Given the description of an element on the screen output the (x, y) to click on. 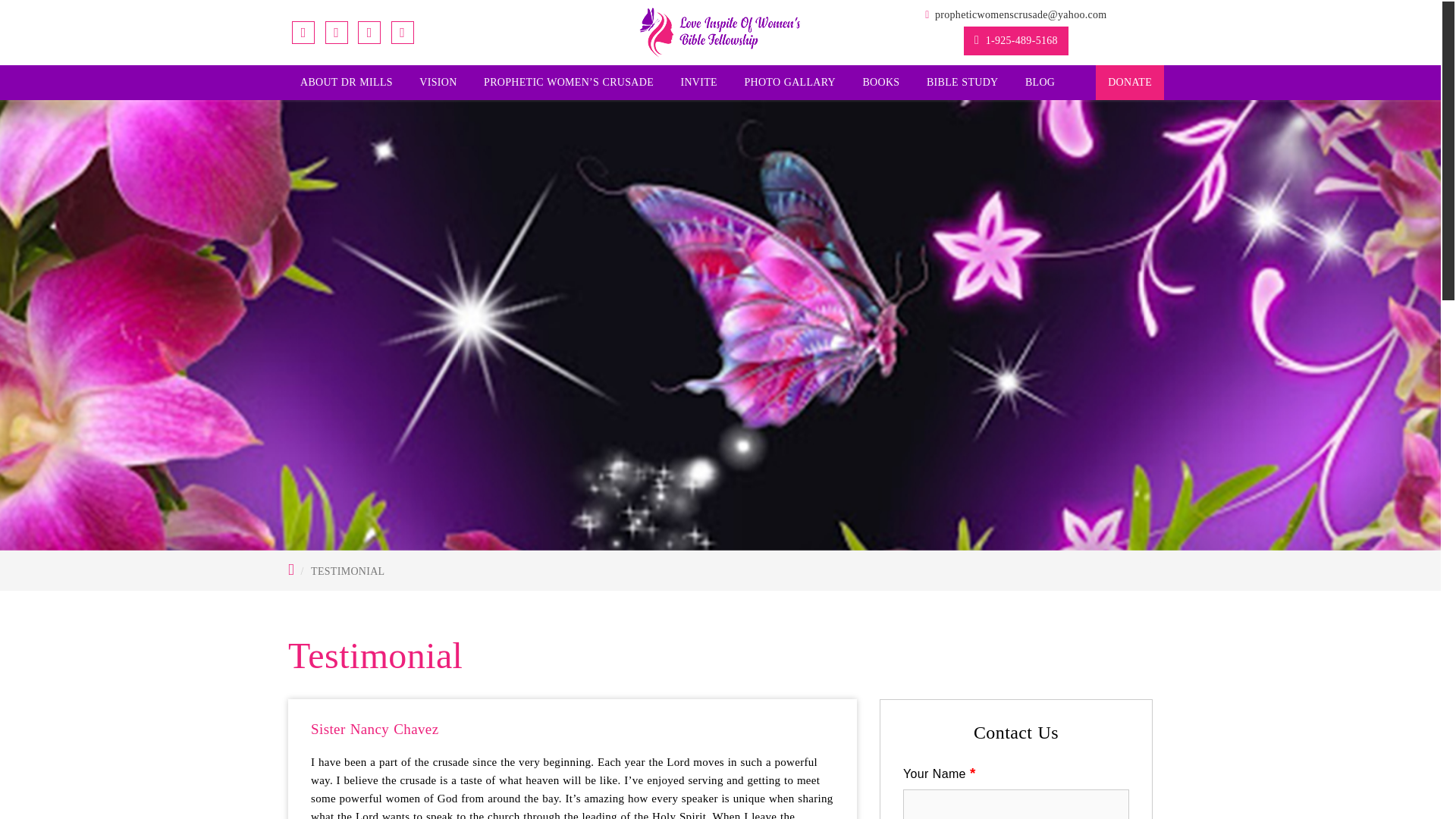
INVITE (698, 82)
PHOTO GALLARY (789, 82)
VISION (437, 82)
BOOKS (880, 82)
INVITE (698, 82)
ABOUT DR MILLS (346, 82)
Blog (1040, 82)
DONATE (1129, 82)
PHOTO GALLARY (789, 82)
1-925-489-5168 (1015, 40)
